Given the description of an element on the screen output the (x, y) to click on. 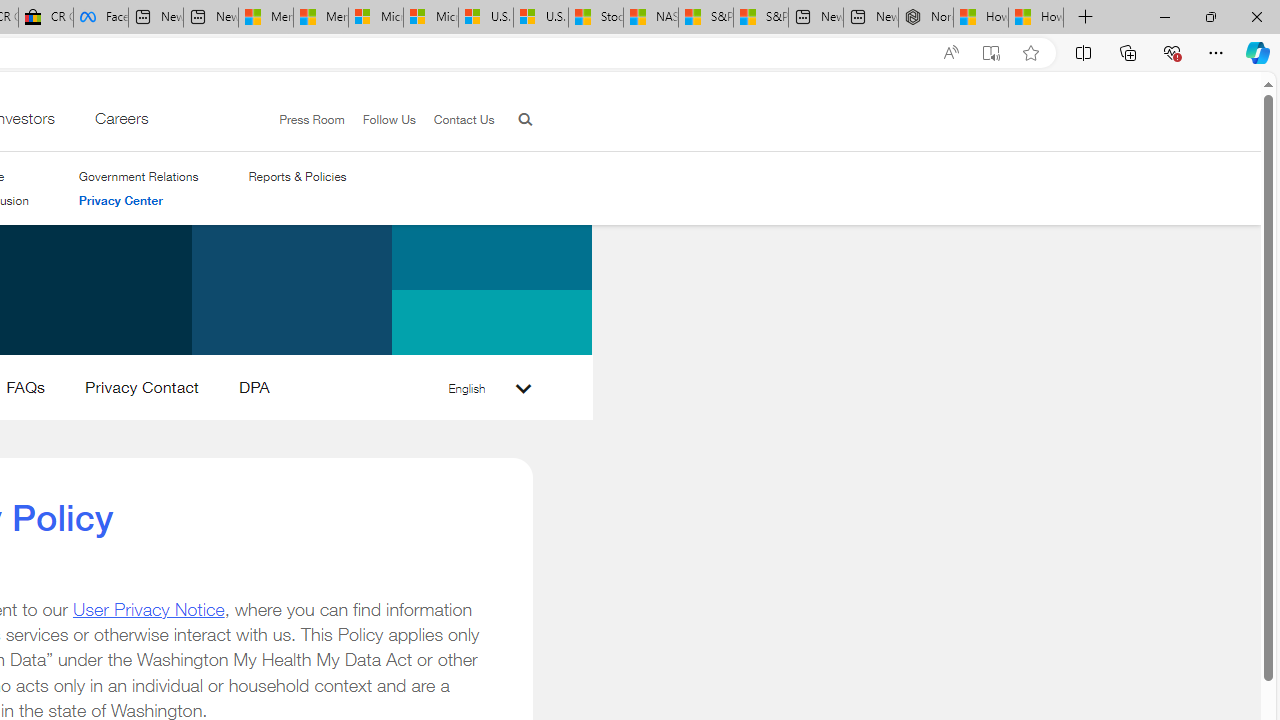
DPA (254, 391)
How to Use a Monitor With Your Closed Laptop (1035, 17)
Press Room (312, 119)
FAQs (26, 391)
